Given the description of an element on the screen output the (x, y) to click on. 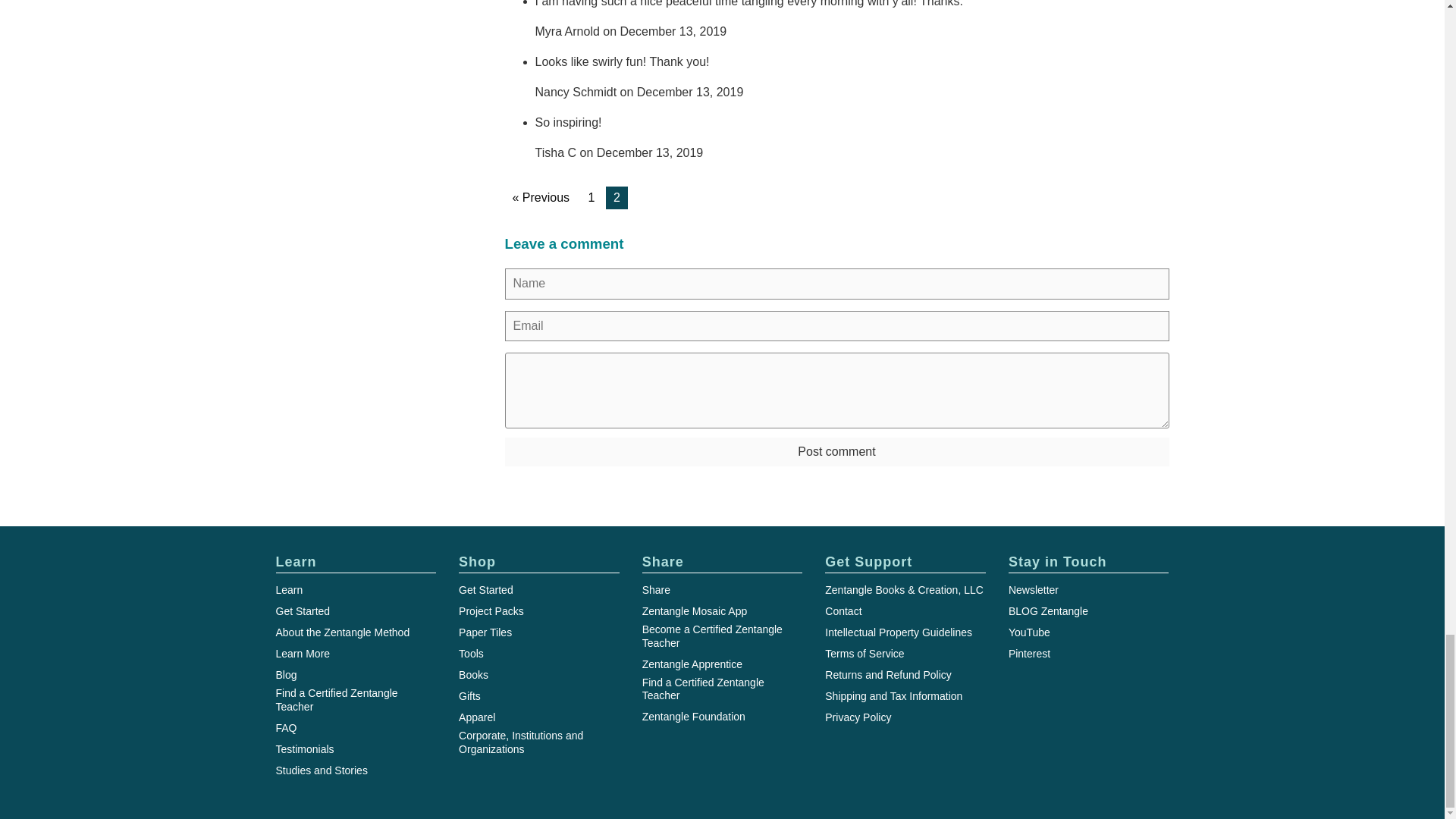
Post comment (837, 451)
